Given the description of an element on the screen output the (x, y) to click on. 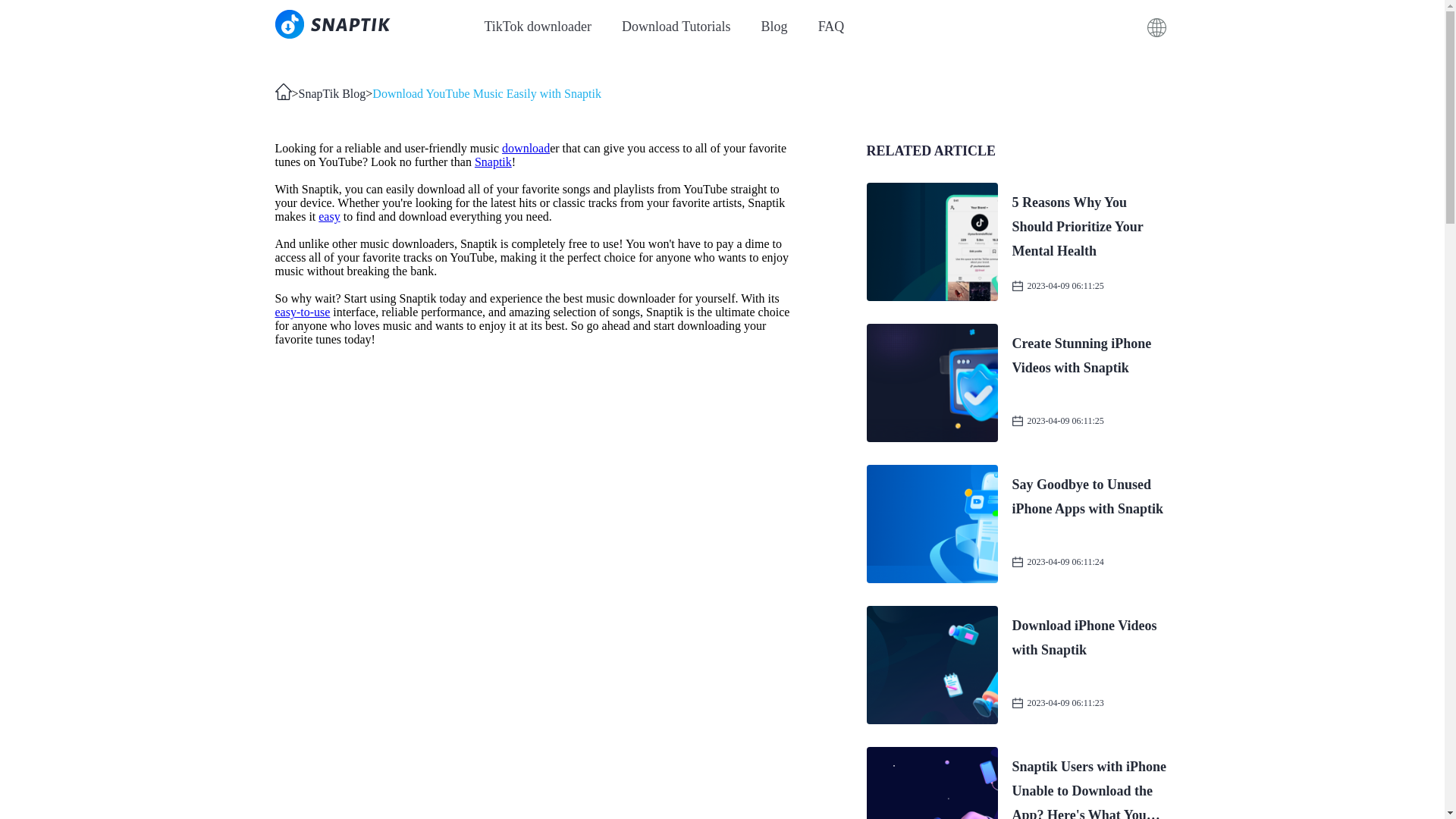
Blog (774, 26)
easy (328, 215)
SnapTik Blog (1017, 664)
TikTok downloader (332, 93)
Download Tutorials (537, 26)
Snaptik (675, 26)
